Given the description of an element on the screen output the (x, y) to click on. 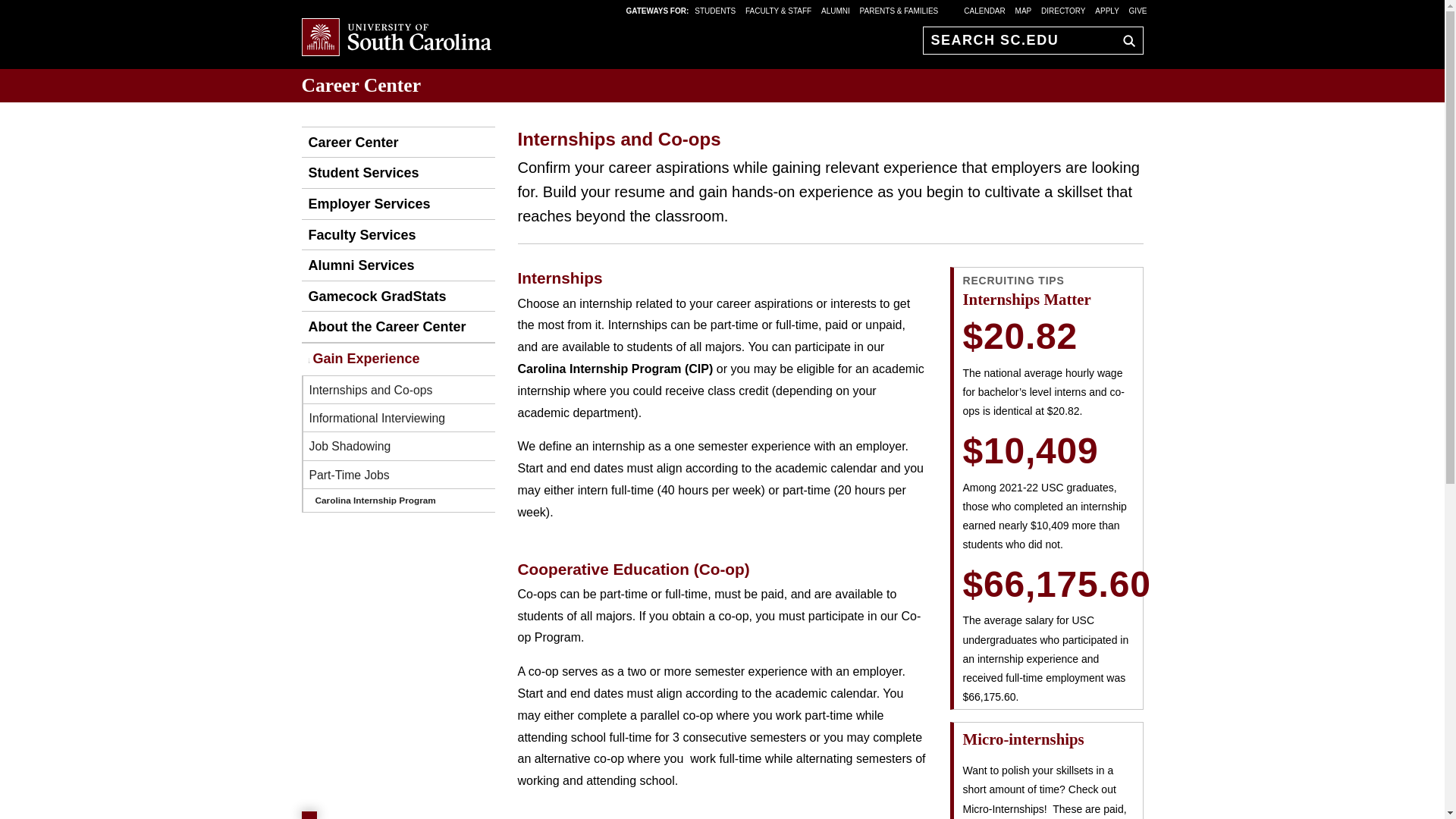
GO (1125, 40)
APPLY (1106, 9)
Career Center (349, 142)
DIRECTORY (1063, 9)
MAP (1023, 9)
ALUMNI (835, 9)
STUDENTS (716, 9)
GO (1125, 40)
GIVE (1138, 9)
Career Center (361, 85)
CALENDAR (983, 9)
sc.edu Search (1125, 40)
University of South Carolina Home (396, 38)
